Given the description of an element on the screen output the (x, y) to click on. 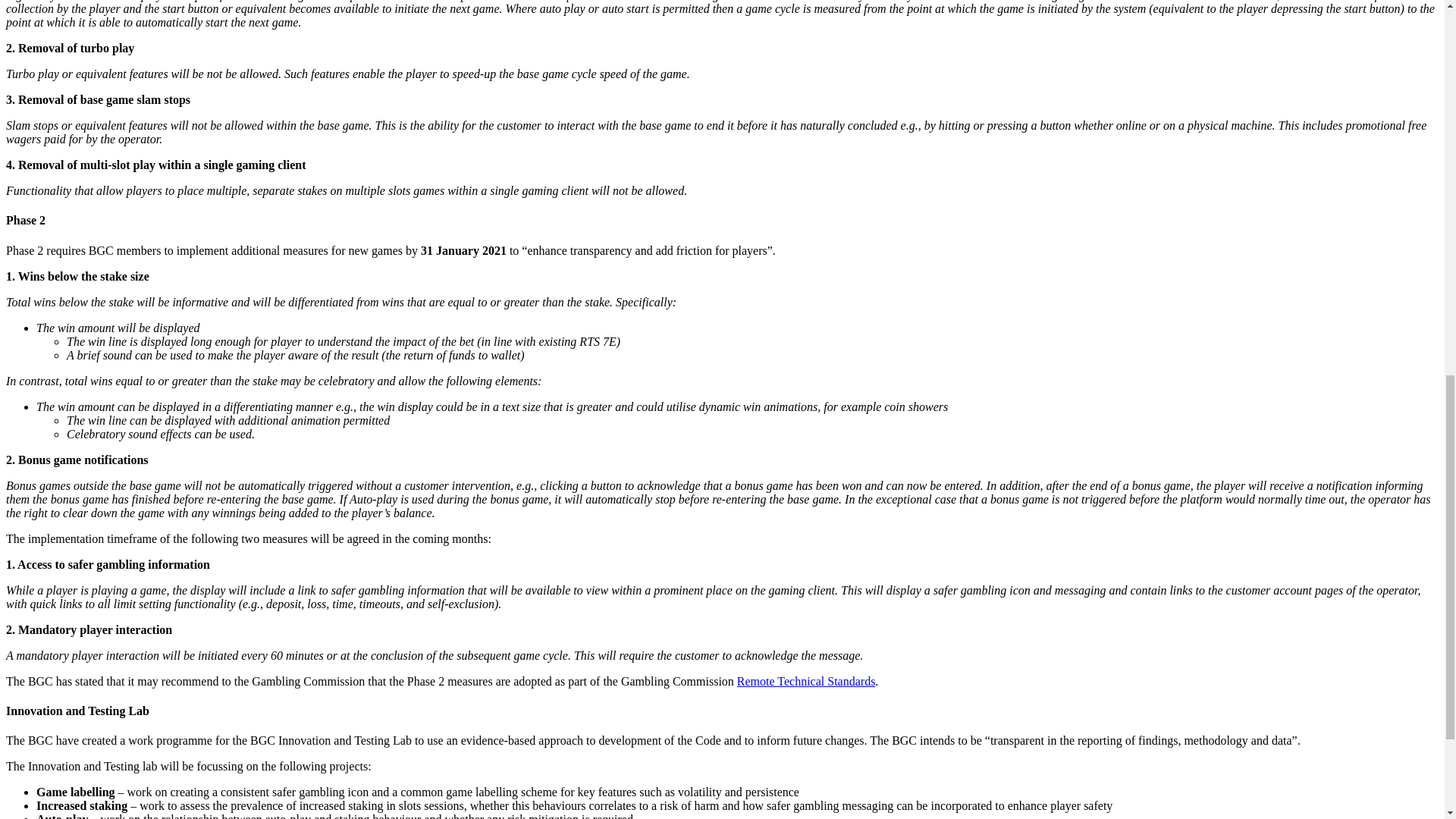
Remote Technical Standards (806, 680)
